Given the description of an element on the screen output the (x, y) to click on. 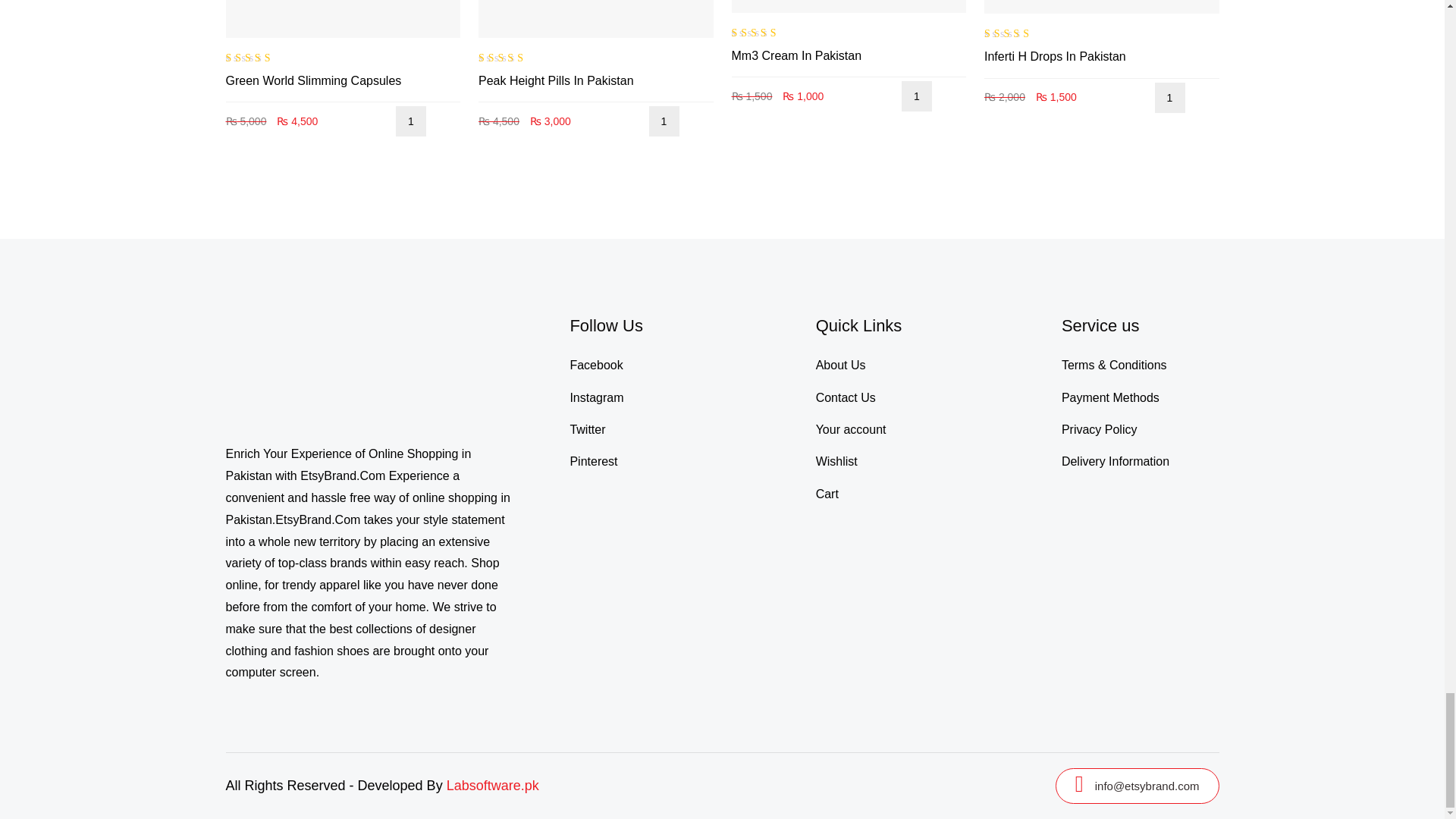
1 (1169, 97)
1 (664, 121)
1 (916, 96)
1 (411, 121)
